Given the description of an element on the screen output the (x, y) to click on. 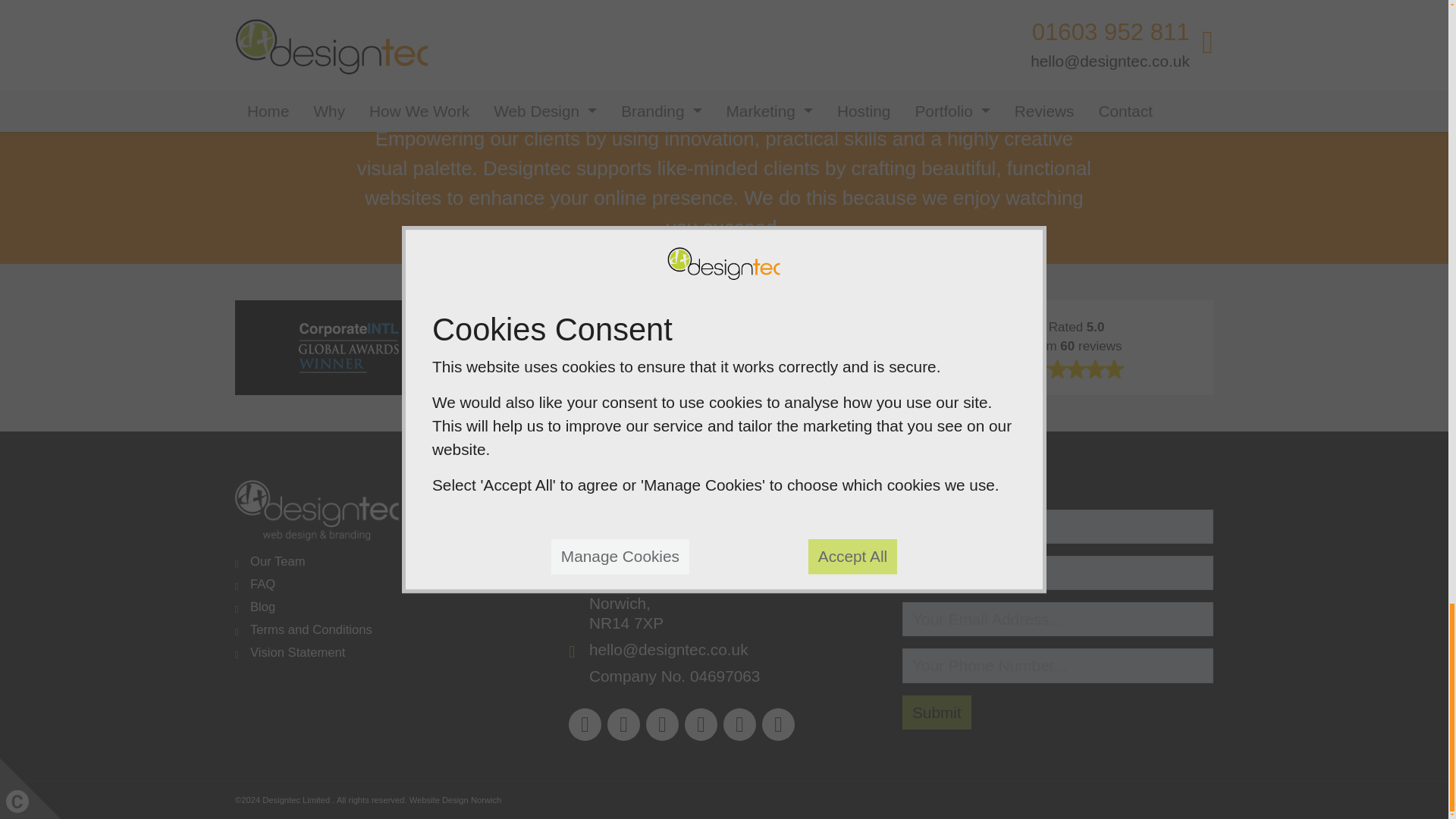
Submit (936, 712)
